Given the description of an element on the screen output the (x, y) to click on. 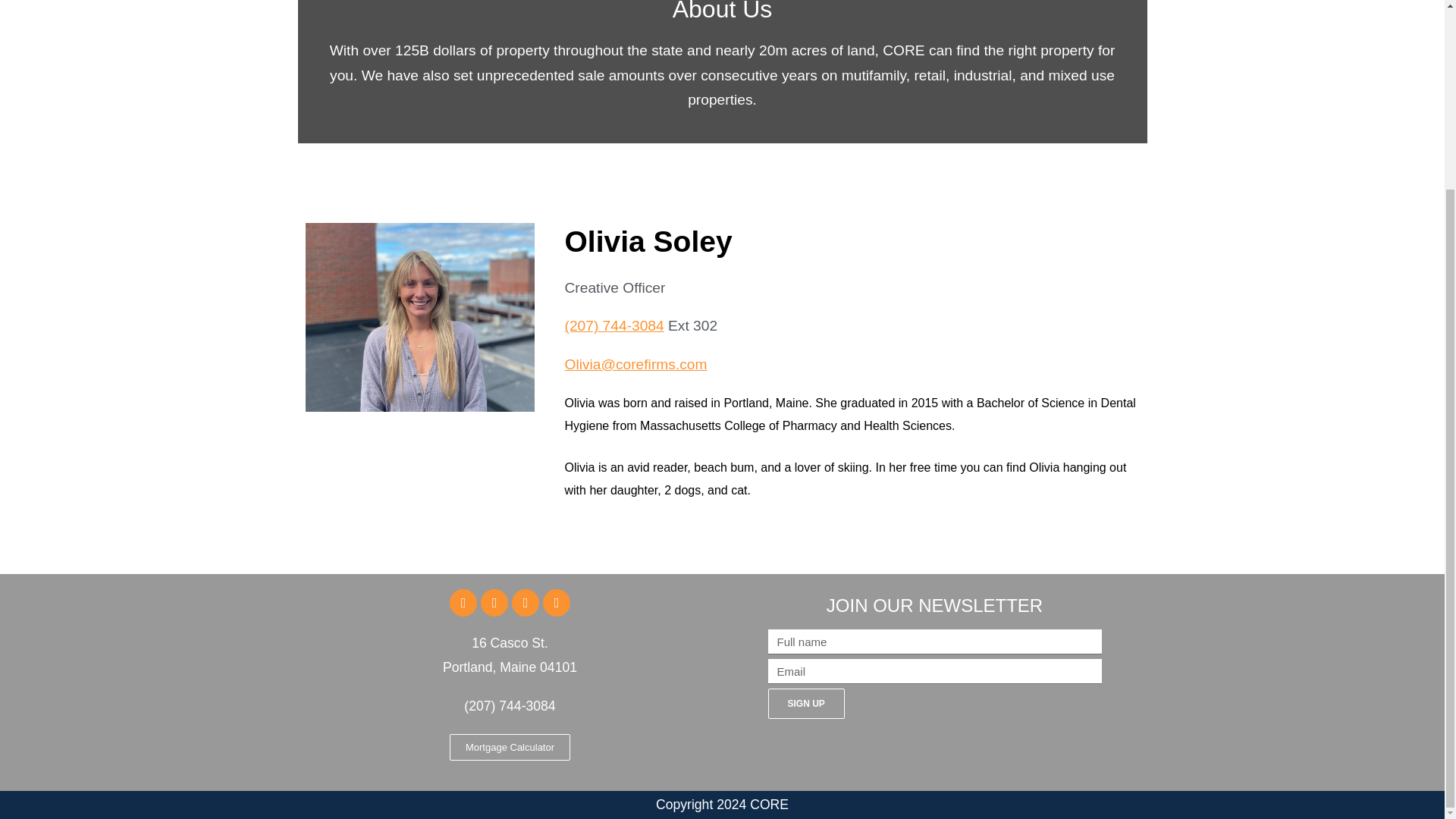
Envelope (525, 602)
Instagram (556, 602)
Facebook-f (463, 602)
Linkedin-in (494, 602)
